Given the description of an element on the screen output the (x, y) to click on. 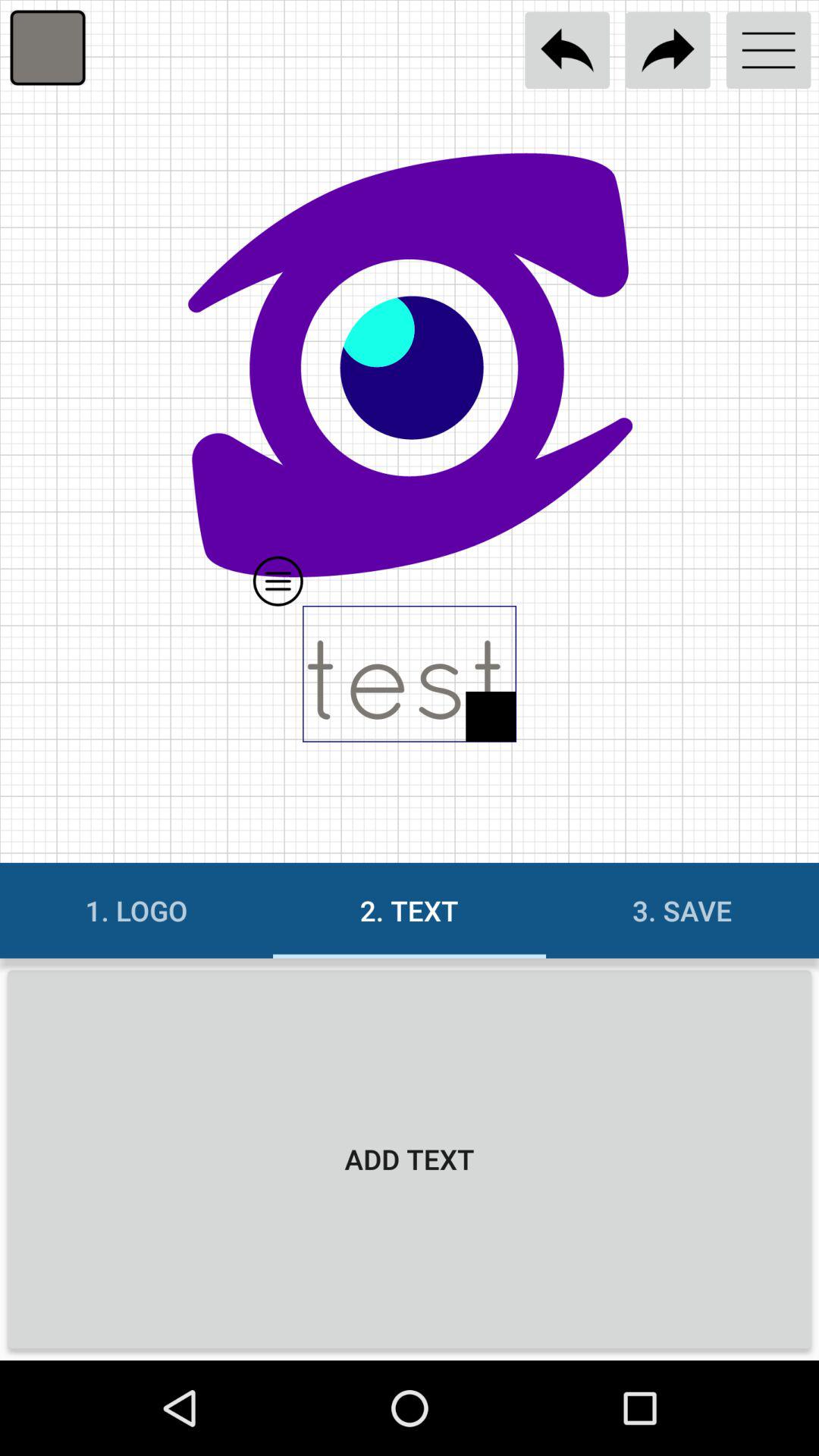
open menu (768, 50)
